Given the description of an element on the screen output the (x, y) to click on. 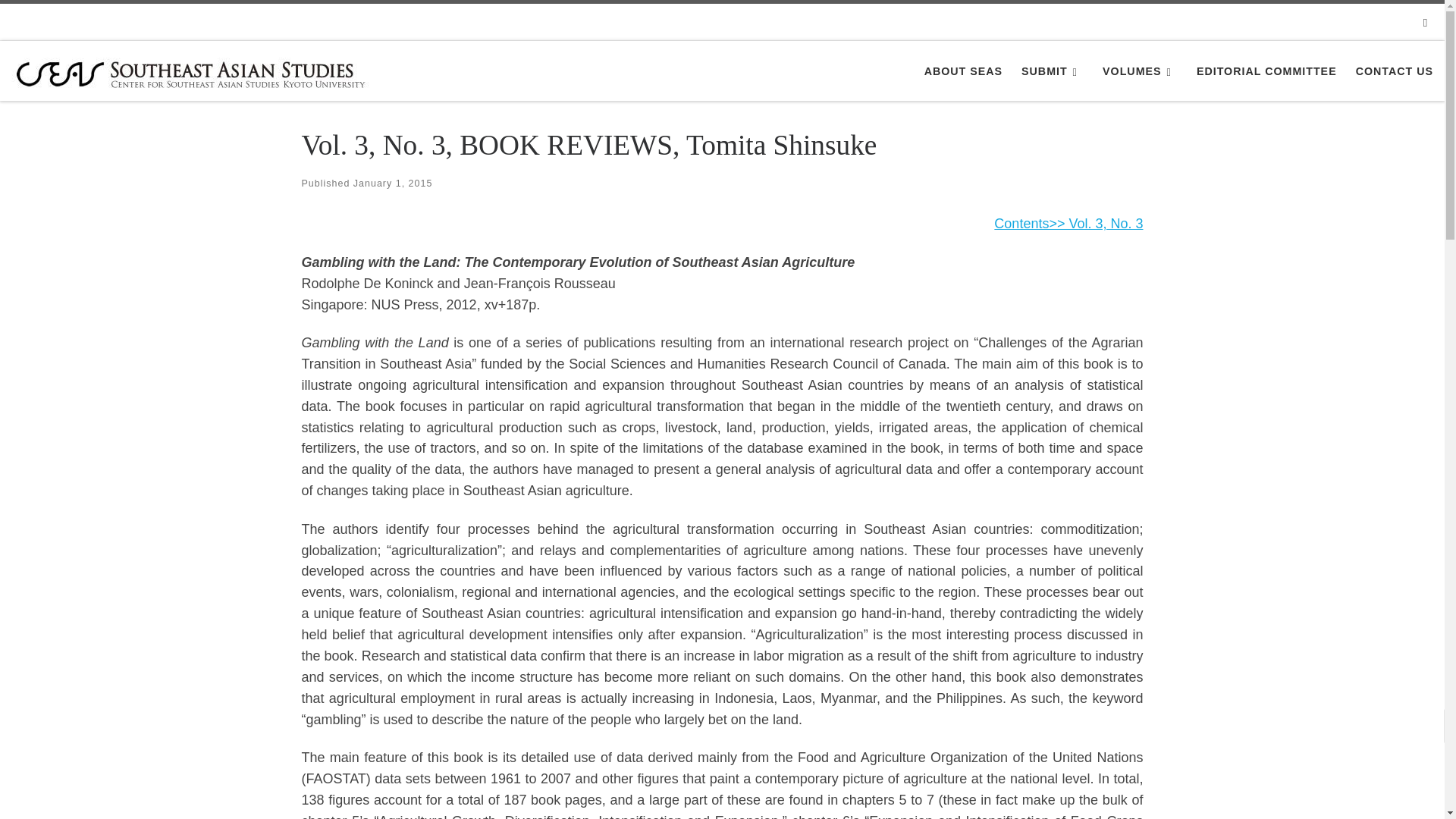
VOLUMES (1139, 70)
SUBMIT (1052, 70)
ABOUT SEAS (962, 70)
Skip to content (60, 20)
EDITORIAL COMMITTEE (1266, 70)
CONTACT US (1394, 70)
